Given the description of an element on the screen output the (x, y) to click on. 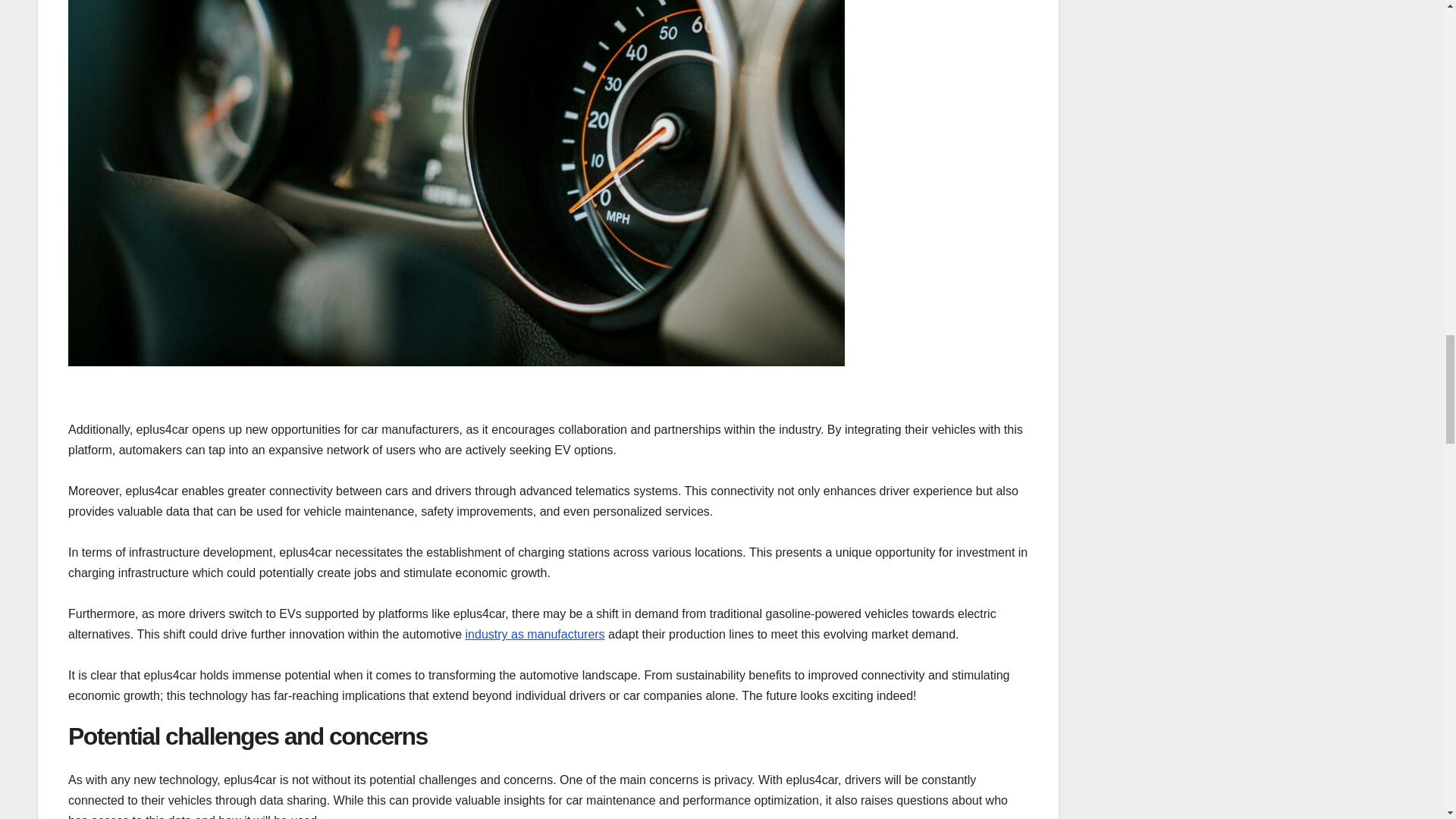
industry as manufacturers (535, 634)
